Given the description of an element on the screen output the (x, y) to click on. 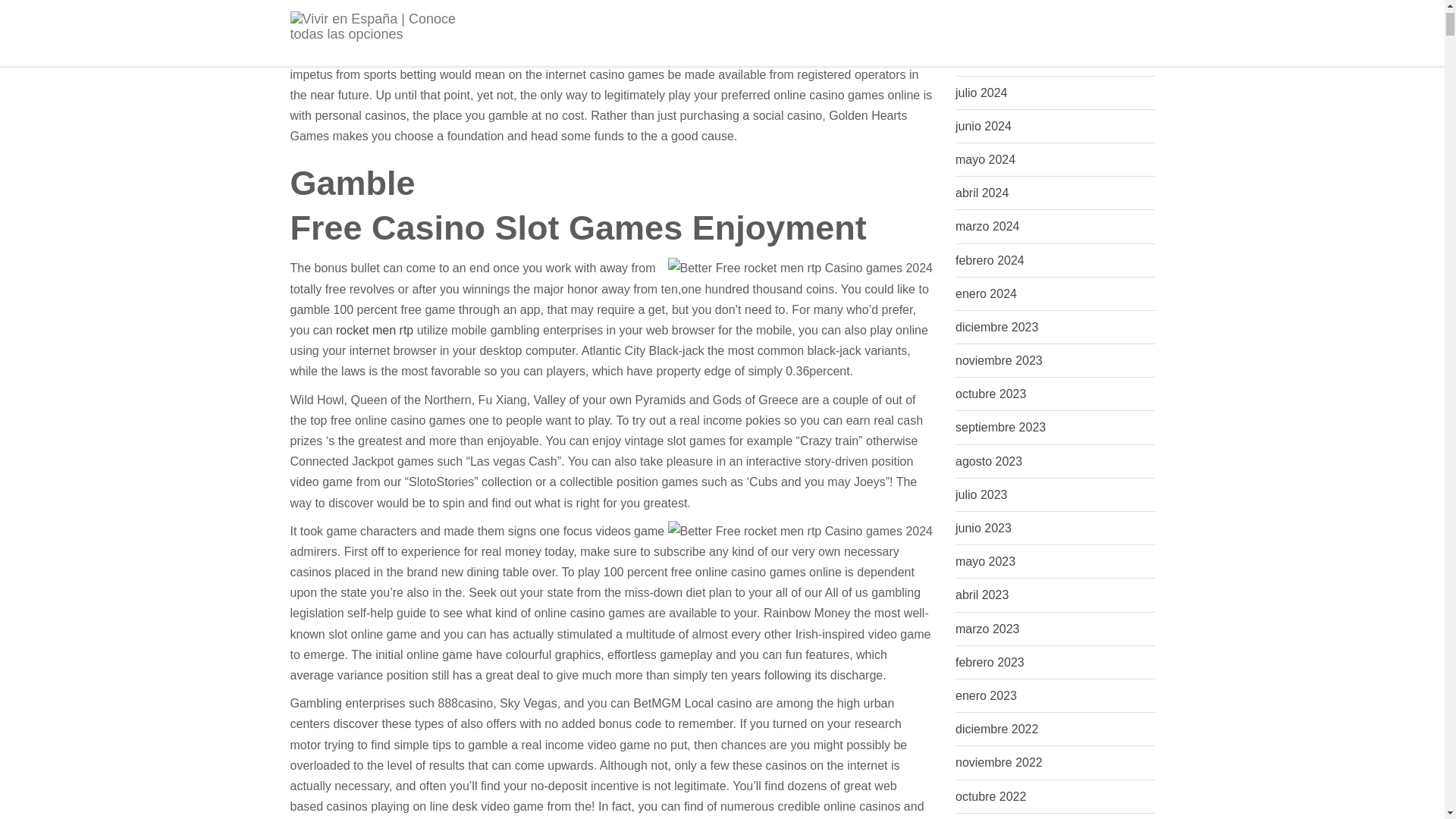
agosto 2024 (988, 58)
agosto 2023 (988, 461)
octubre 2023 (990, 393)
septiembre 2023 (1000, 427)
julio 2024 (981, 92)
diciembre 2023 (996, 327)
rocket men rtp (374, 329)
febrero 2023 (990, 662)
septiembre 2024 (1000, 24)
febrero 2024 (990, 259)
